Given the description of an element on the screen output the (x, y) to click on. 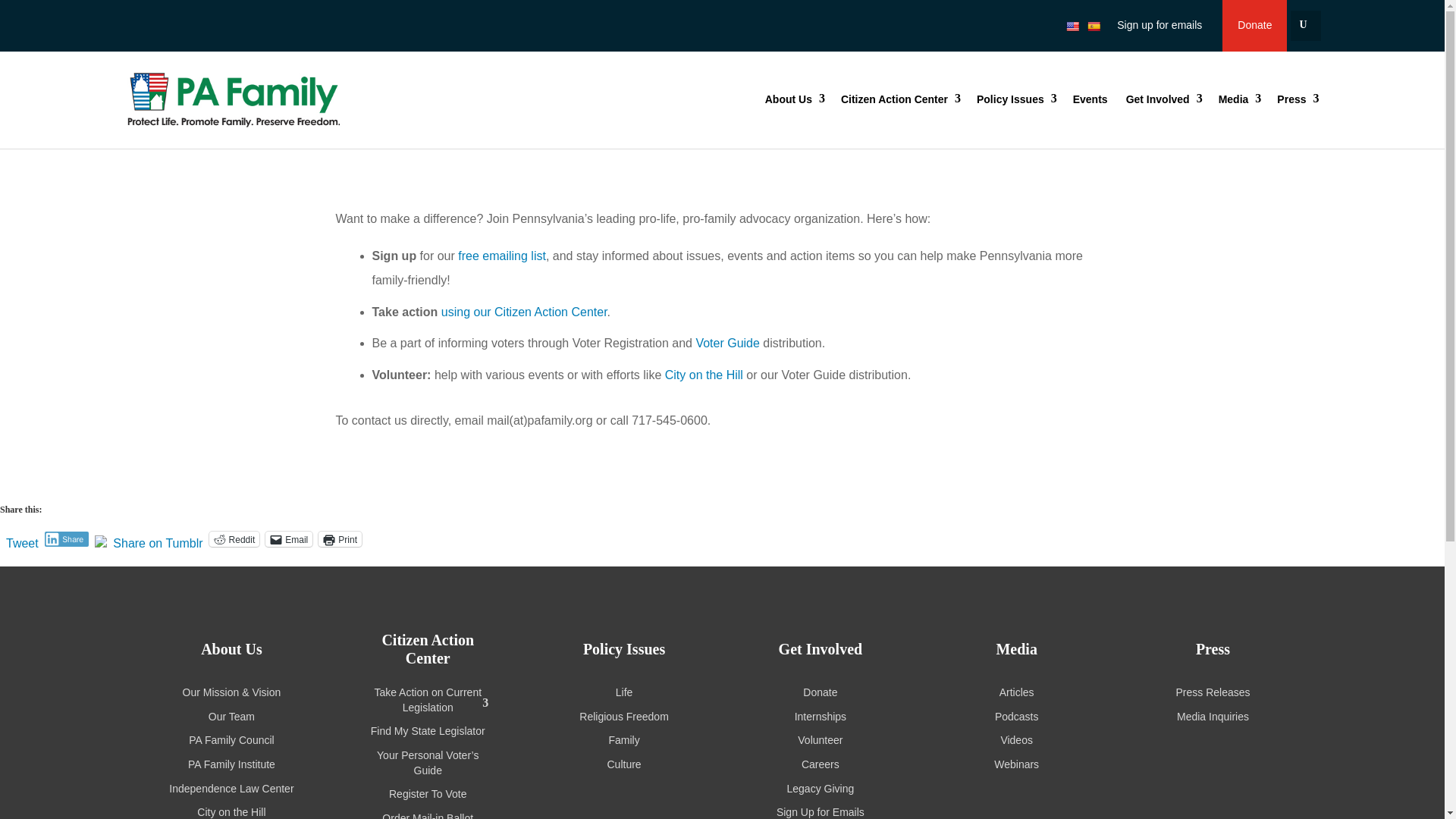
logo-pa-family-tagline-leftl (275, 99)
Citizen Action Center (899, 99)
Policy Issues (1016, 99)
Click to share on Reddit (234, 539)
Search (24, 13)
Donate (1255, 25)
English (1071, 25)
Get Involved (1162, 99)
Spanish (1093, 25)
Click to print (339, 539)
Events (1090, 99)
Sign up for emails (1159, 24)
About Us (793, 99)
Share on Tumblr (157, 538)
Click to email a link to a friend (288, 539)
